Given the description of an element on the screen output the (x, y) to click on. 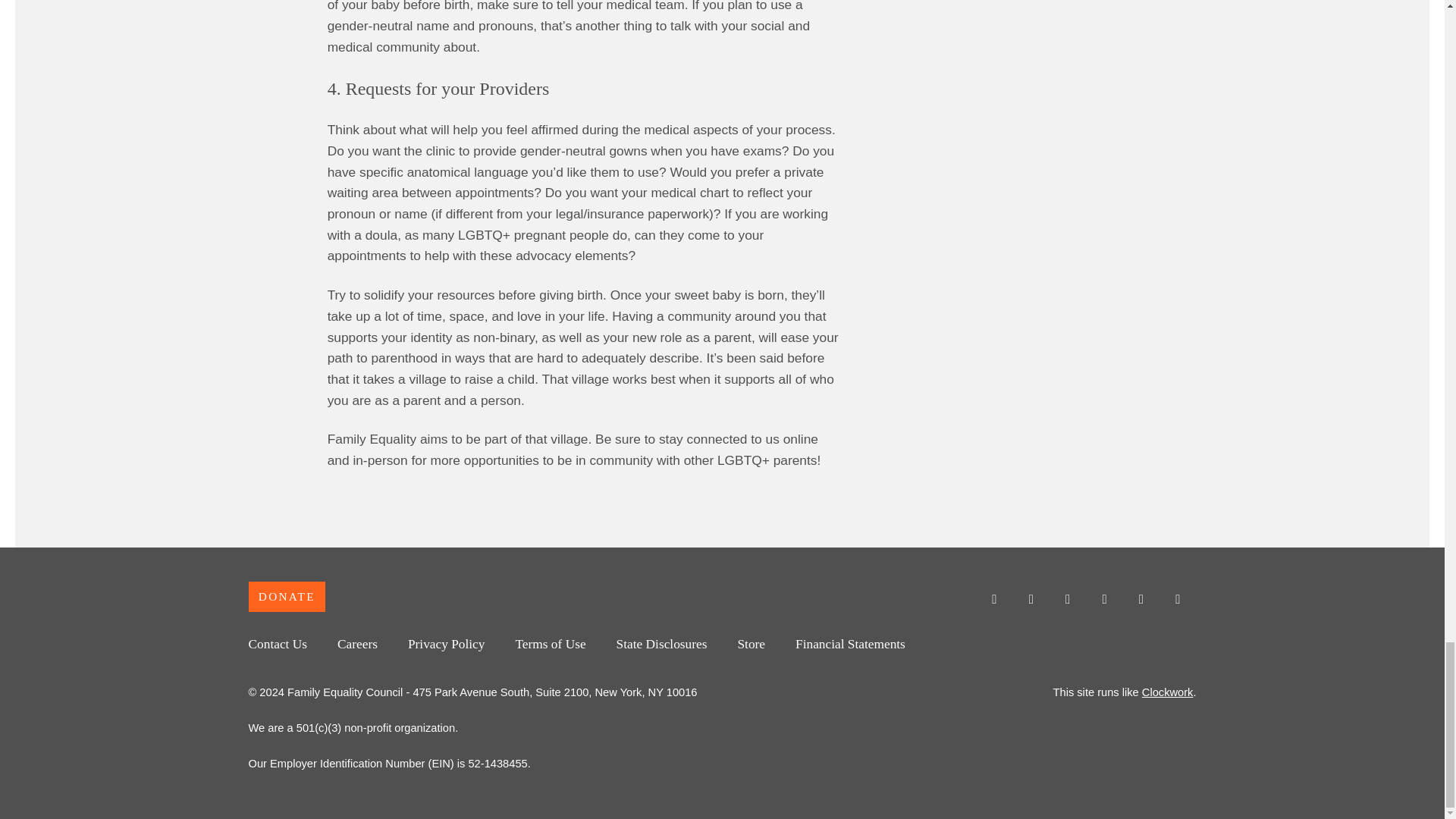
DONATE (287, 596)
Threads (1104, 599)
Youtube (1067, 599)
Careers (357, 643)
Go to Clockwork.com (1167, 692)
Contact Us (277, 643)
Instagram (993, 599)
Facebook (1031, 599)
Privacy Policy (446, 643)
Tiktok (1176, 599)
